Given the description of an element on the screen output the (x, y) to click on. 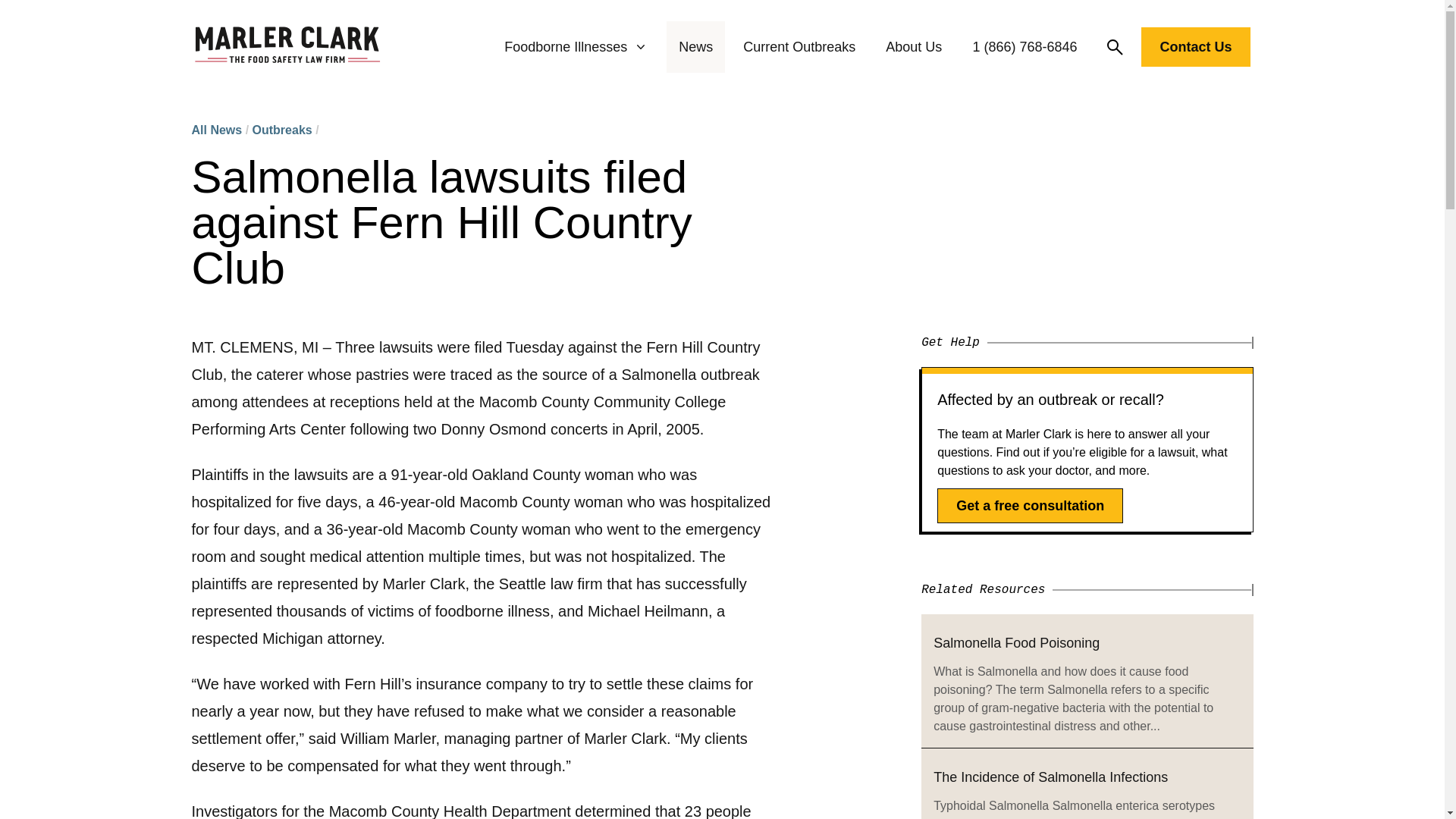
Current Outbreaks (799, 46)
About Us (913, 46)
Contact Us (1195, 46)
Marler Clark (286, 46)
Foodborne Illnesses (576, 46)
Contact Us (1195, 49)
Outbreaks (282, 129)
All News (215, 129)
News (695, 46)
